Given the description of an element on the screen output the (x, y) to click on. 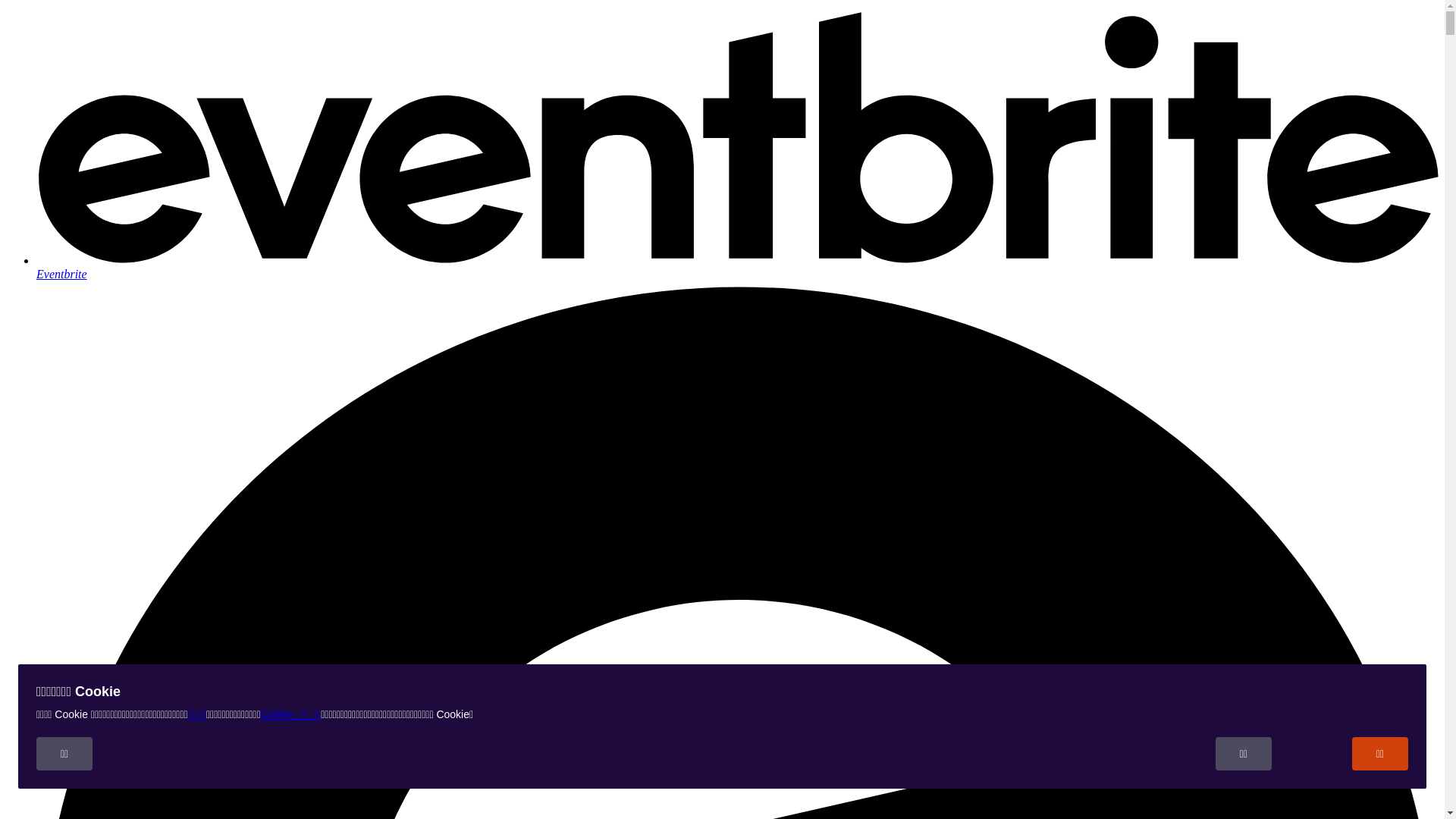
Eventbrite Element type: text (737, 267)
